Given the description of an element on the screen output the (x, y) to click on. 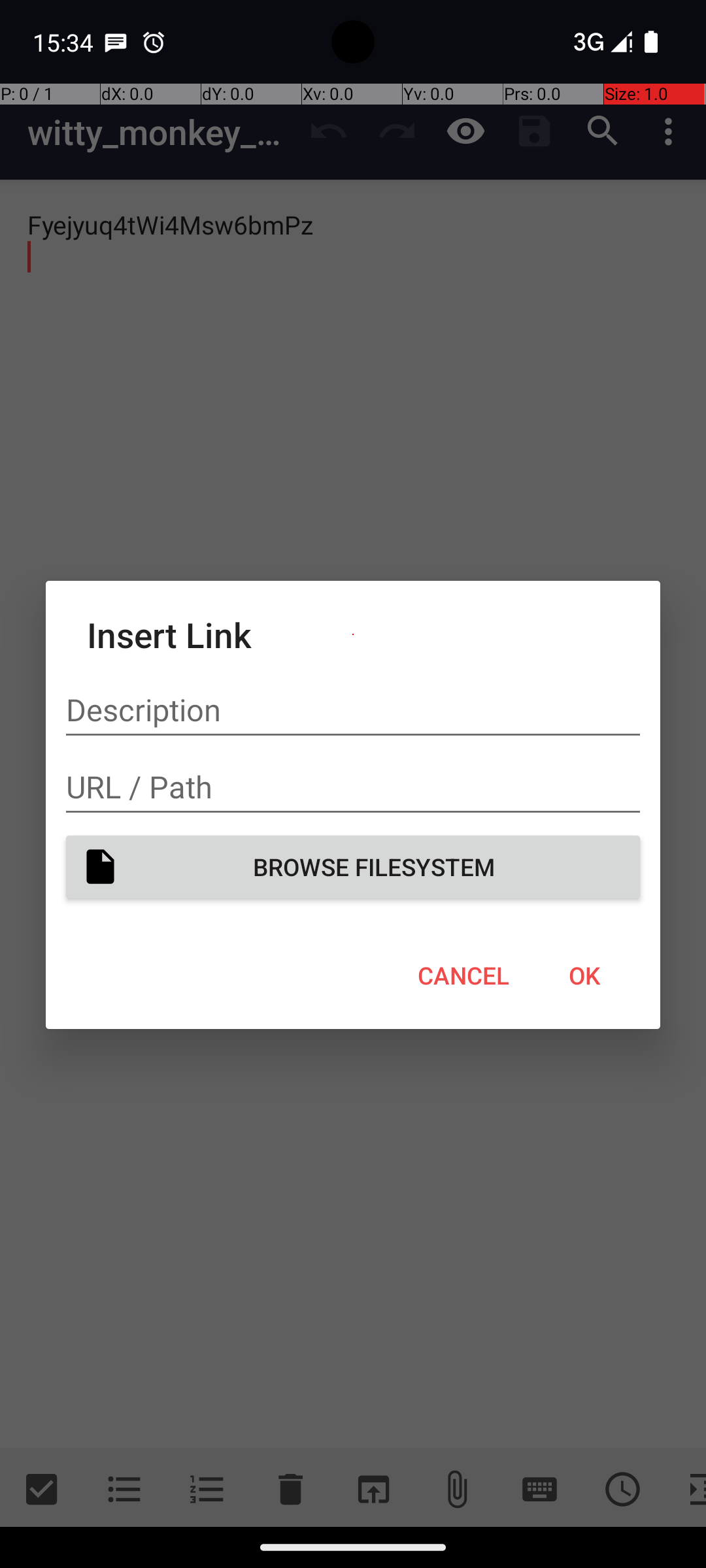
URL / Path Element type: android.widget.EditText (352, 786)
